Given the description of an element on the screen output the (x, y) to click on. 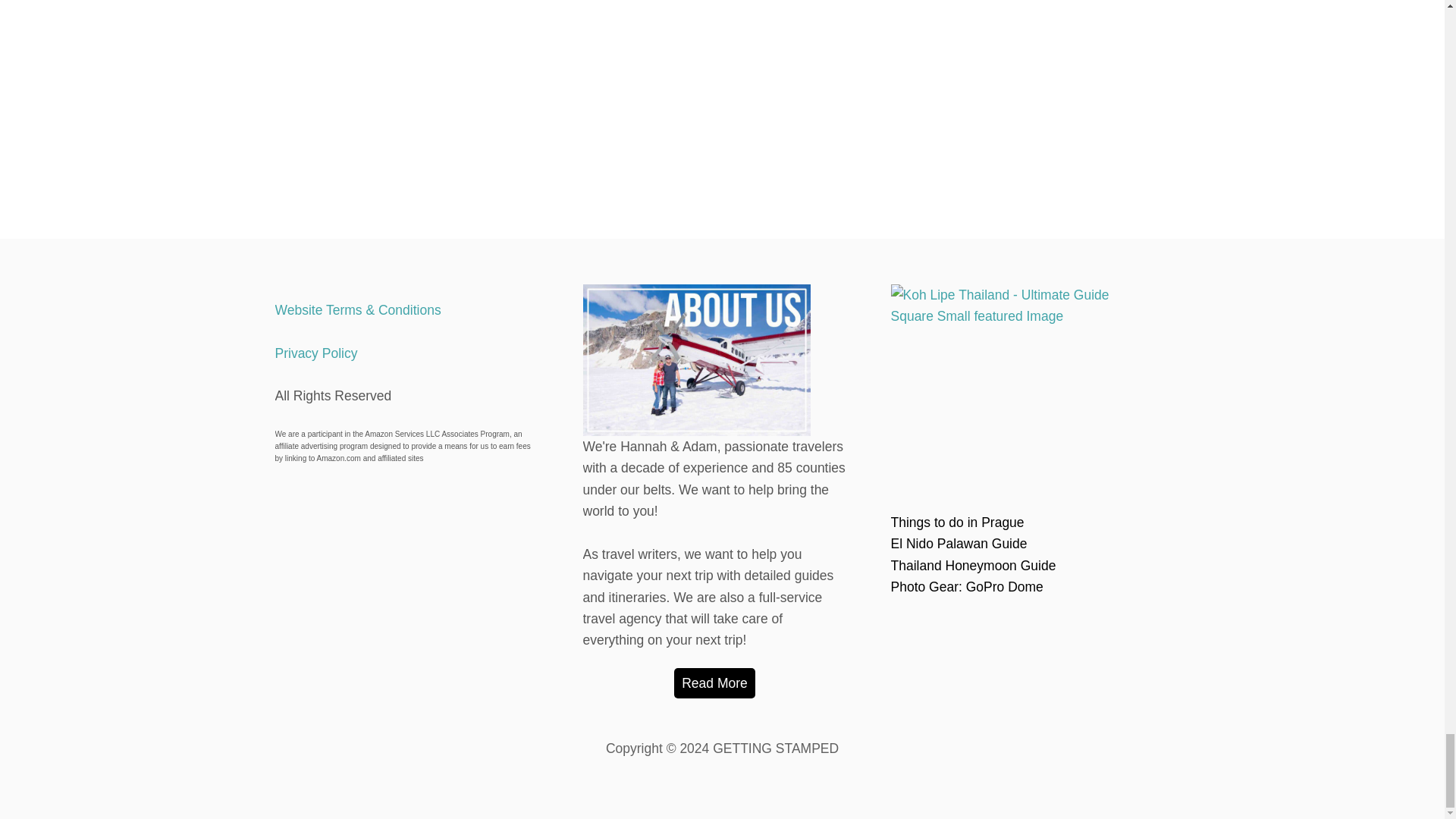
Things to do in Prague (956, 522)
Complete Guide to El Nido Palawan (957, 543)
Best GoPro Dome for travel photos! (965, 586)
Thailand Honeymoon Guide (972, 565)
